Given the description of an element on the screen output the (x, y) to click on. 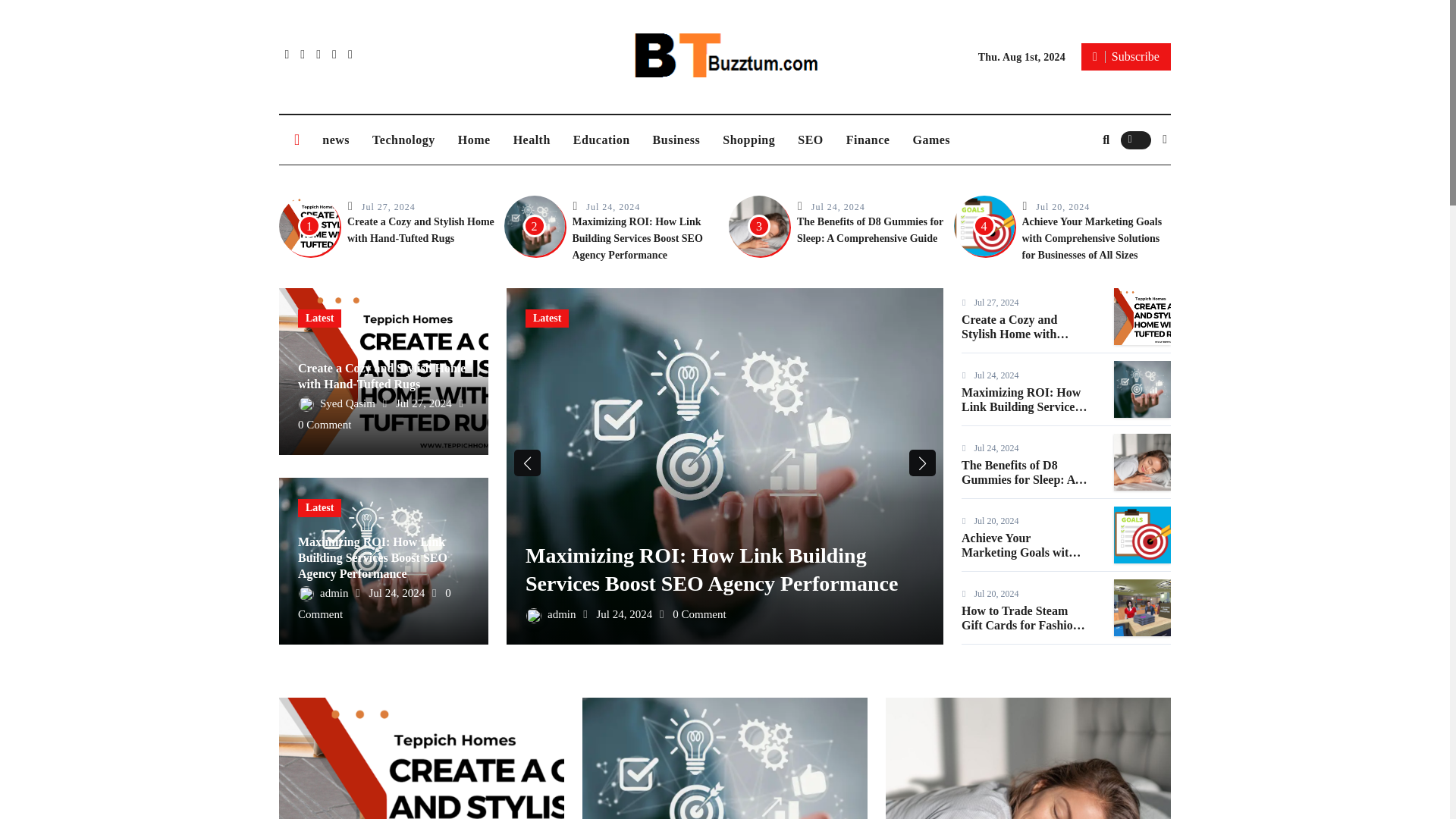
Subscribe (1125, 56)
SEO (810, 139)
Health (532, 139)
Education (602, 139)
Business (676, 139)
news (336, 139)
news (336, 139)
Finance (867, 139)
Games (930, 139)
Jul 24, 2024 (837, 206)
Latest (319, 318)
Technology (403, 139)
Home (474, 139)
